Given the description of an element on the screen output the (x, y) to click on. 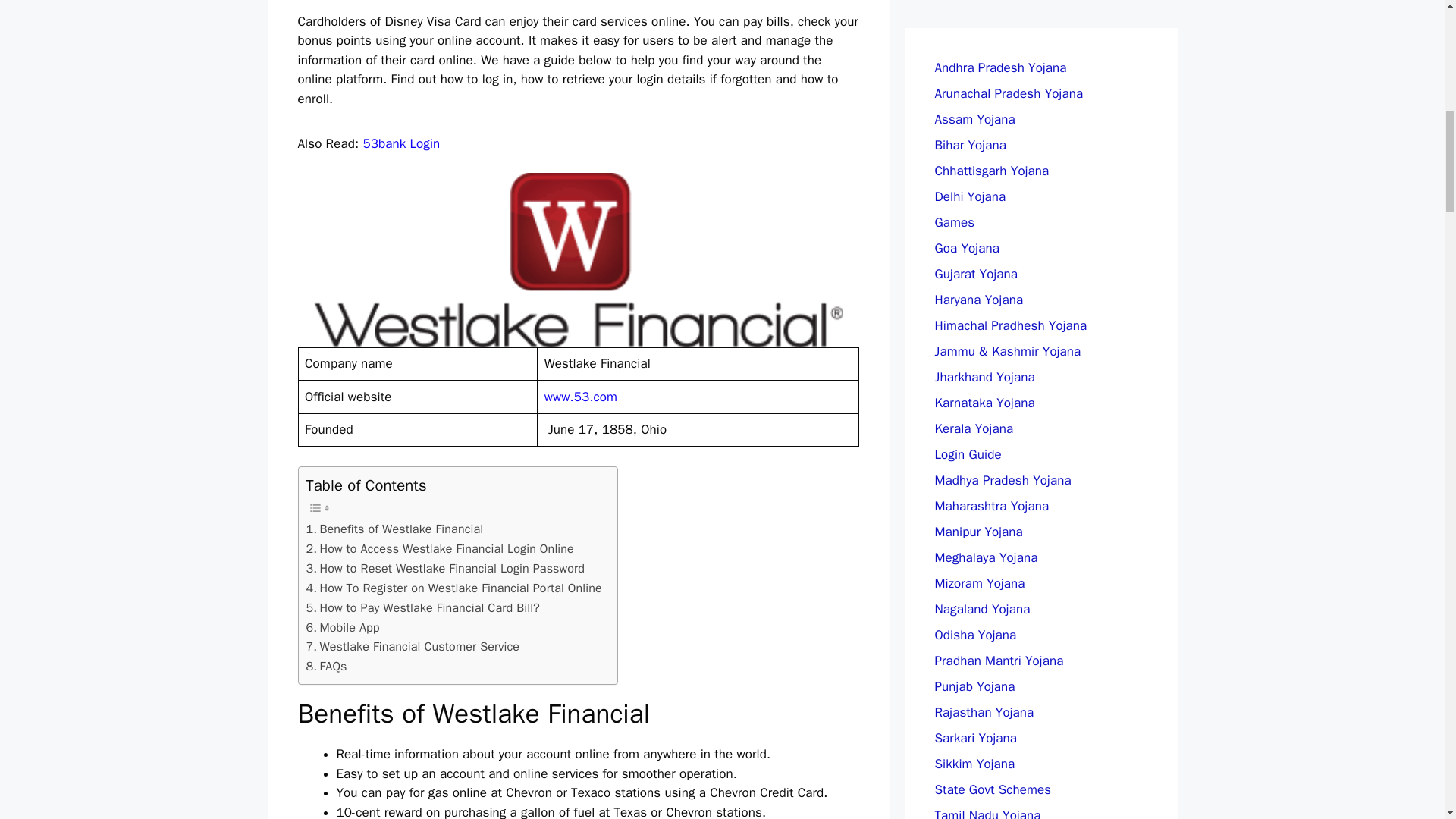
Benefits of Westlake Financial (394, 528)
How to Access Westlake Financial Login Online (439, 548)
Westlake Financial Customer Service (412, 646)
FAQs (326, 666)
How to Reset Westlake Financial Login Password (445, 568)
How To Register on Westlake Financial Portal Online (453, 588)
Mobile App (342, 628)
How to Pay Westlake Financial Card Bill? (422, 608)
